Given the description of an element on the screen output the (x, y) to click on. 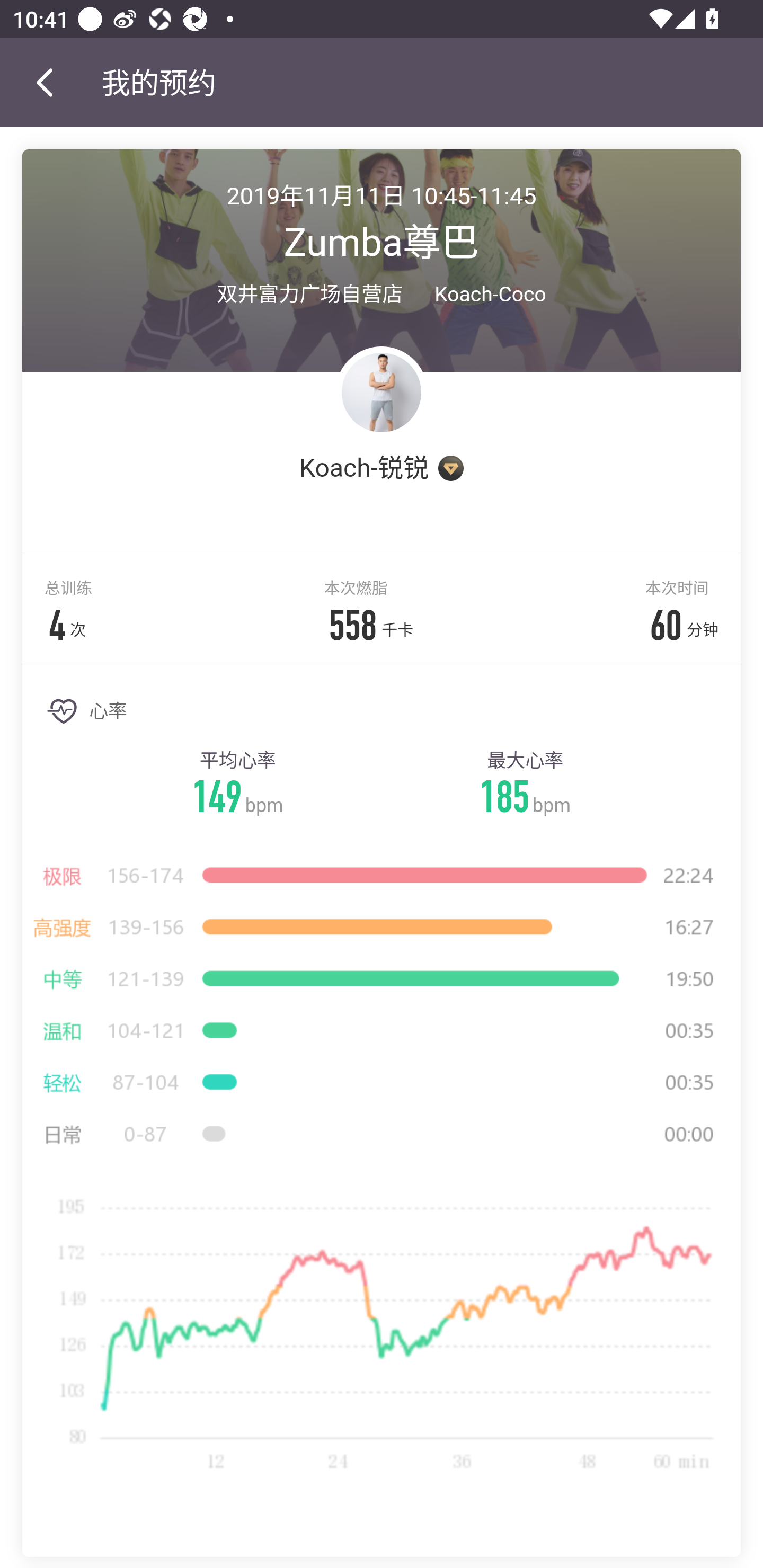
Left Button In Title Bar (50, 82)
